Given the description of an element on the screen output the (x, y) to click on. 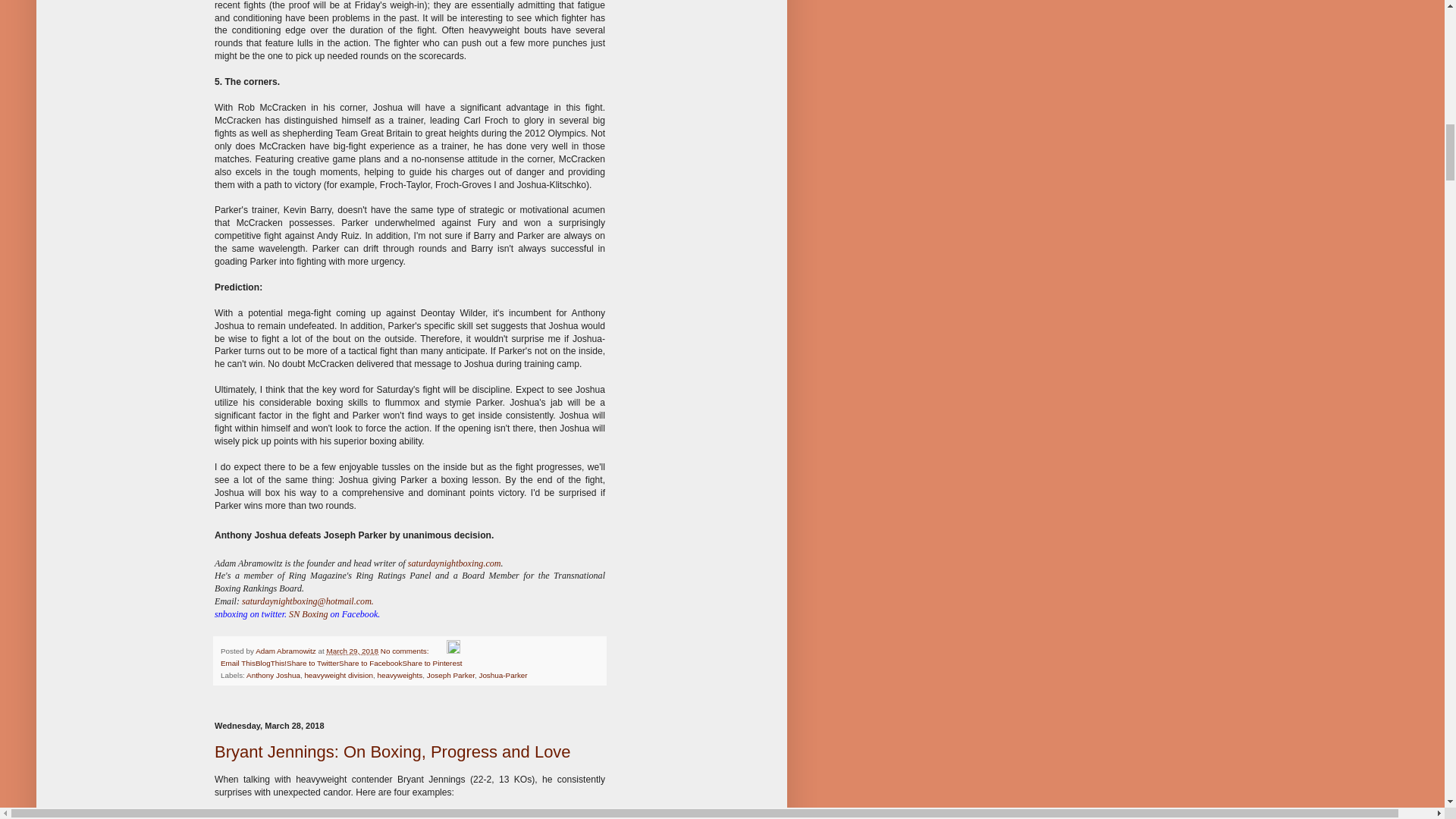
No comments: (405, 651)
March 29, 2018 (352, 651)
Share to Pinterest (433, 663)
saturdaynightboxing.com (453, 562)
author profile (286, 651)
BlogThis! (271, 663)
Share to Twitter (312, 663)
heavyweights (399, 674)
heavyweight division (338, 674)
Share to Facebook (370, 663)
Joshua-Parker (503, 674)
Share to Pinterest (433, 663)
Anthony Joshua (272, 674)
Share to Twitter (312, 663)
Email Post (438, 651)
